Given the description of an element on the screen output the (x, y) to click on. 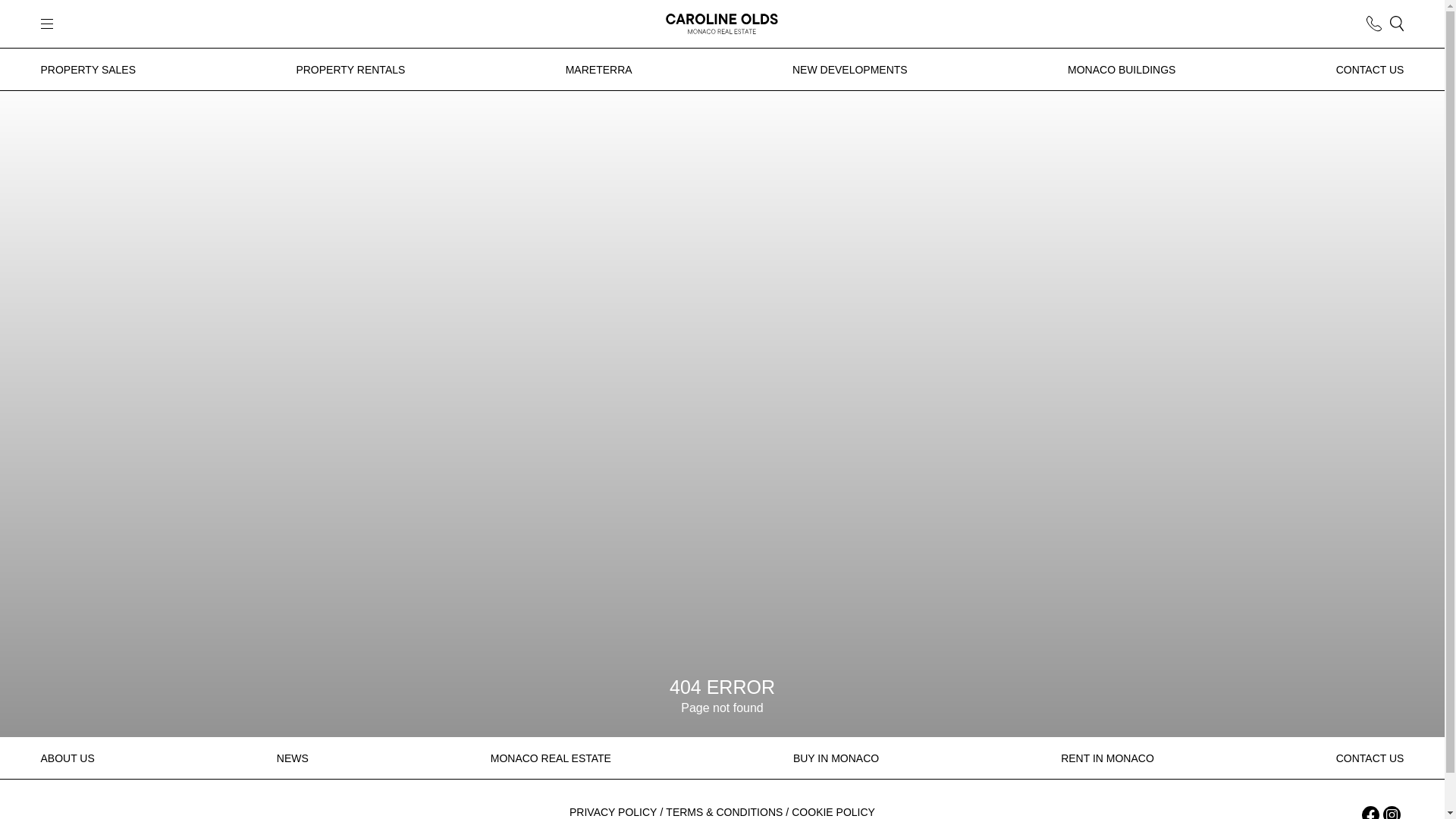
MONACO REAL ESTATE (550, 758)
CONTACT US (1370, 758)
Search (1396, 23)
MONACO BUILDINGS (1120, 69)
Our Facebook (1370, 812)
Submit (592, 496)
RENT IN MONACO (1107, 758)
Back to Home (720, 23)
BUY IN MONACO (836, 758)
NEWS (292, 758)
PRIVACY POLICY (612, 812)
ABOUT US (67, 758)
PROPERTY SALES (88, 69)
Our Instagram (1391, 812)
CONTACT US (1370, 69)
